Given the description of an element on the screen output the (x, y) to click on. 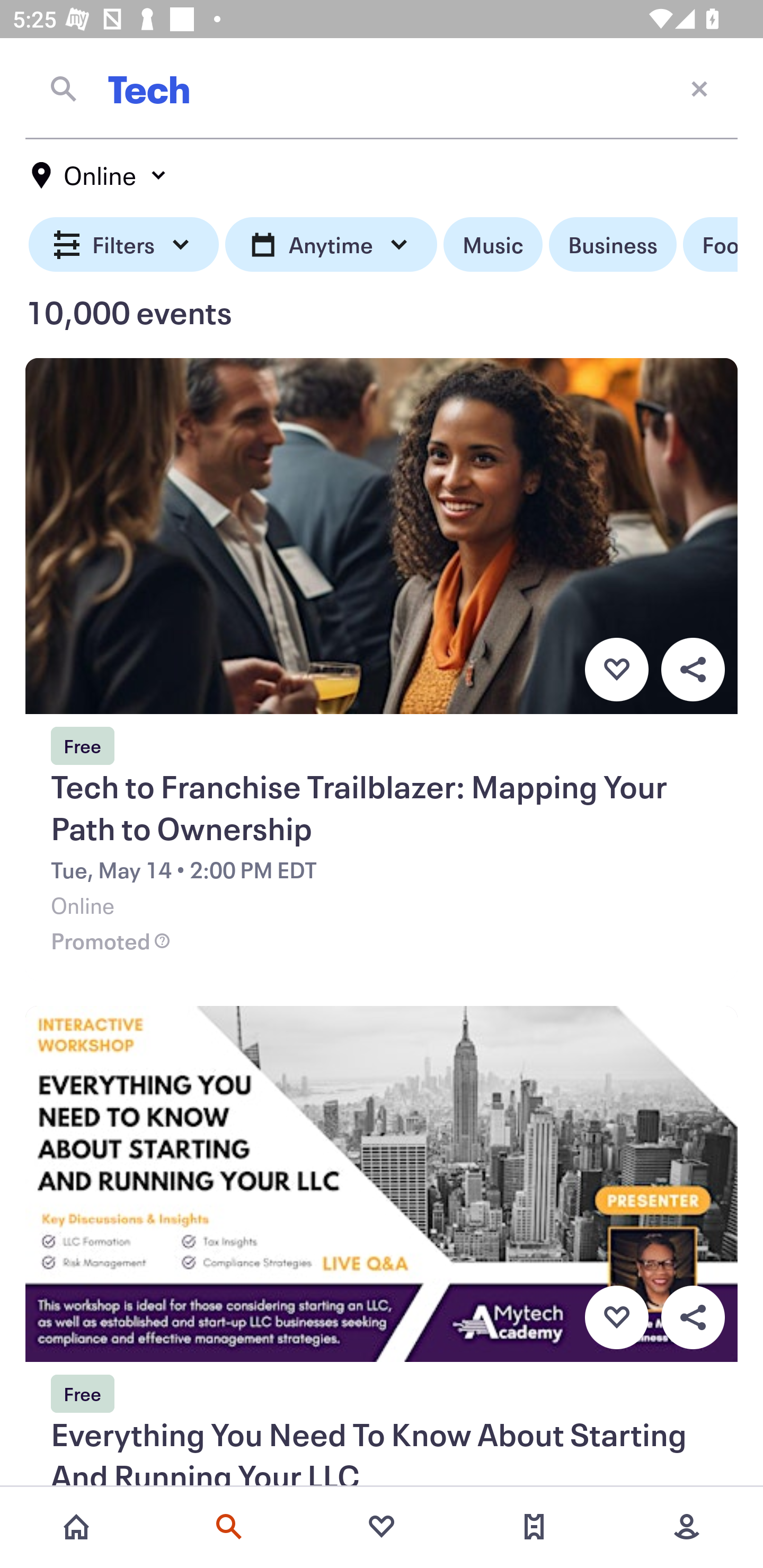
Tech Close current screen (381, 88)
Close current screen (699, 88)
Online (99, 175)
Filters (123, 244)
Anytime (331, 244)
Music (492, 244)
Business (612, 244)
Favorite button (616, 669)
Overflow menu button (692, 669)
Favorite button (616, 1317)
Overflow menu button (692, 1317)
Home (76, 1526)
Search events (228, 1526)
Favorites (381, 1526)
Tickets (533, 1526)
More (686, 1526)
